Given the description of an element on the screen output the (x, y) to click on. 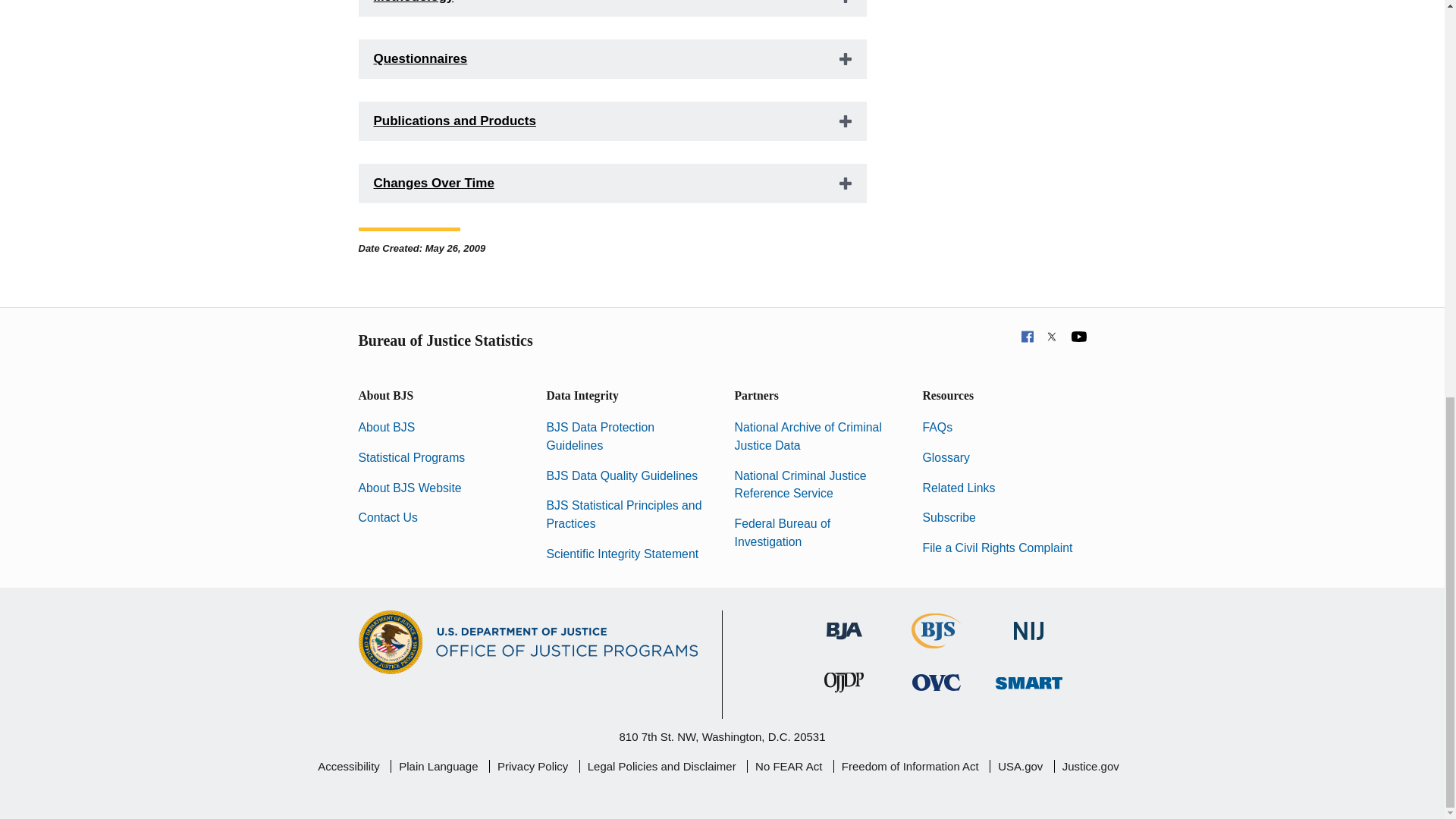
Scientific Integrity Statement (622, 553)
BJS Data Protection Guidelines (599, 436)
About BJS Website (409, 487)
Statistical Programs (411, 457)
Questionnaires (612, 58)
National Archive of Criminal Justice Data (806, 436)
Publications and Products (612, 120)
BJS Data Quality Guidelines (621, 475)
Methodology (612, 8)
BJS Statistical Principles and Practices (623, 513)
